Given the description of an element on the screen output the (x, y) to click on. 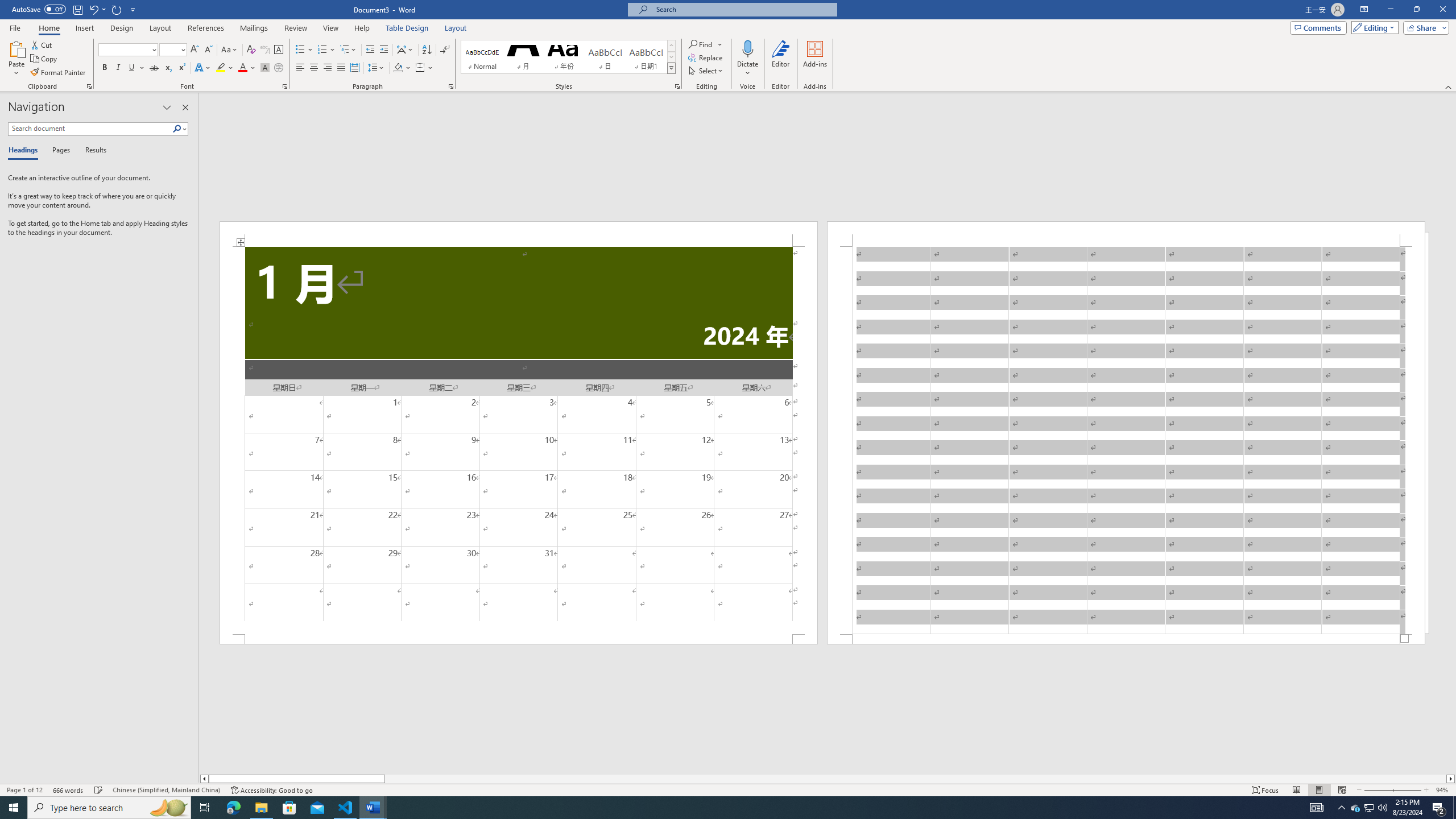
Align Left (300, 67)
Page 1 content (518, 439)
Undo Grow Font (96, 9)
Design (122, 28)
Select (705, 69)
Microsoft search (742, 9)
Word Count 666 words (68, 790)
Column left (203, 778)
Copy (45, 58)
